Given the description of an element on the screen output the (x, y) to click on. 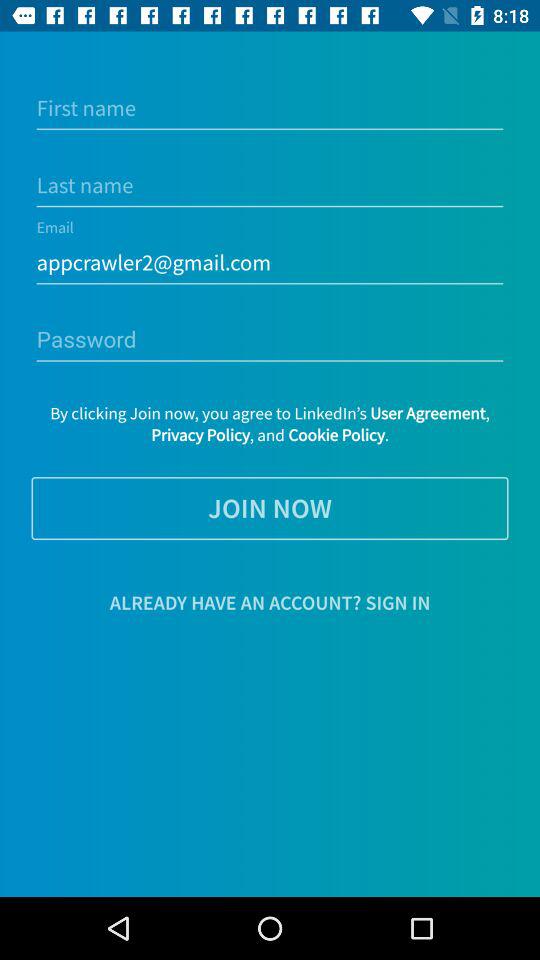
enter name bar (269, 108)
